Given the description of an element on the screen output the (x, y) to click on. 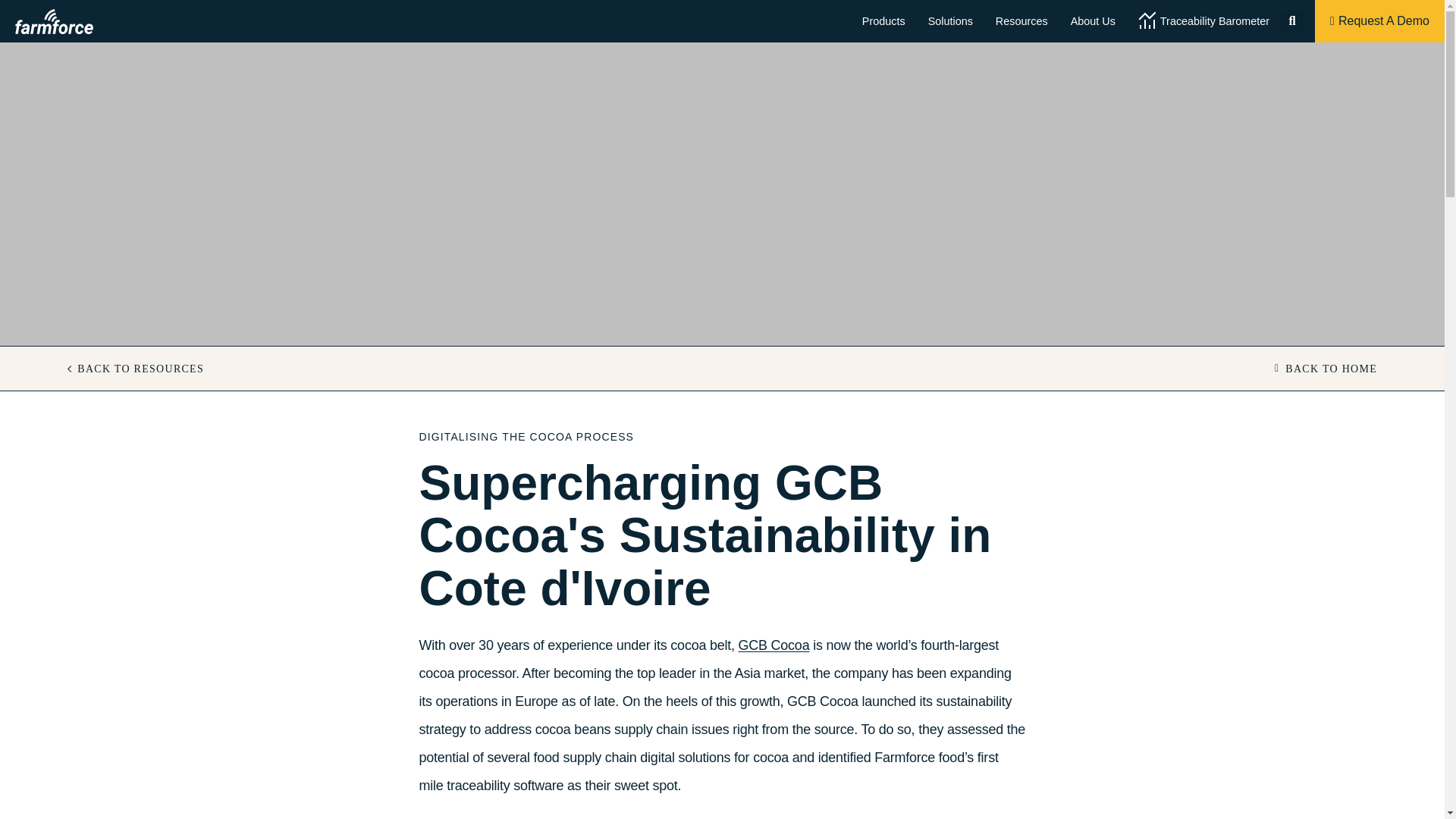
About Us (1093, 21)
Products (883, 21)
Solutions (950, 21)
Traceability Barometer (1203, 21)
Resources (1021, 21)
